Given the description of an element on the screen output the (x, y) to click on. 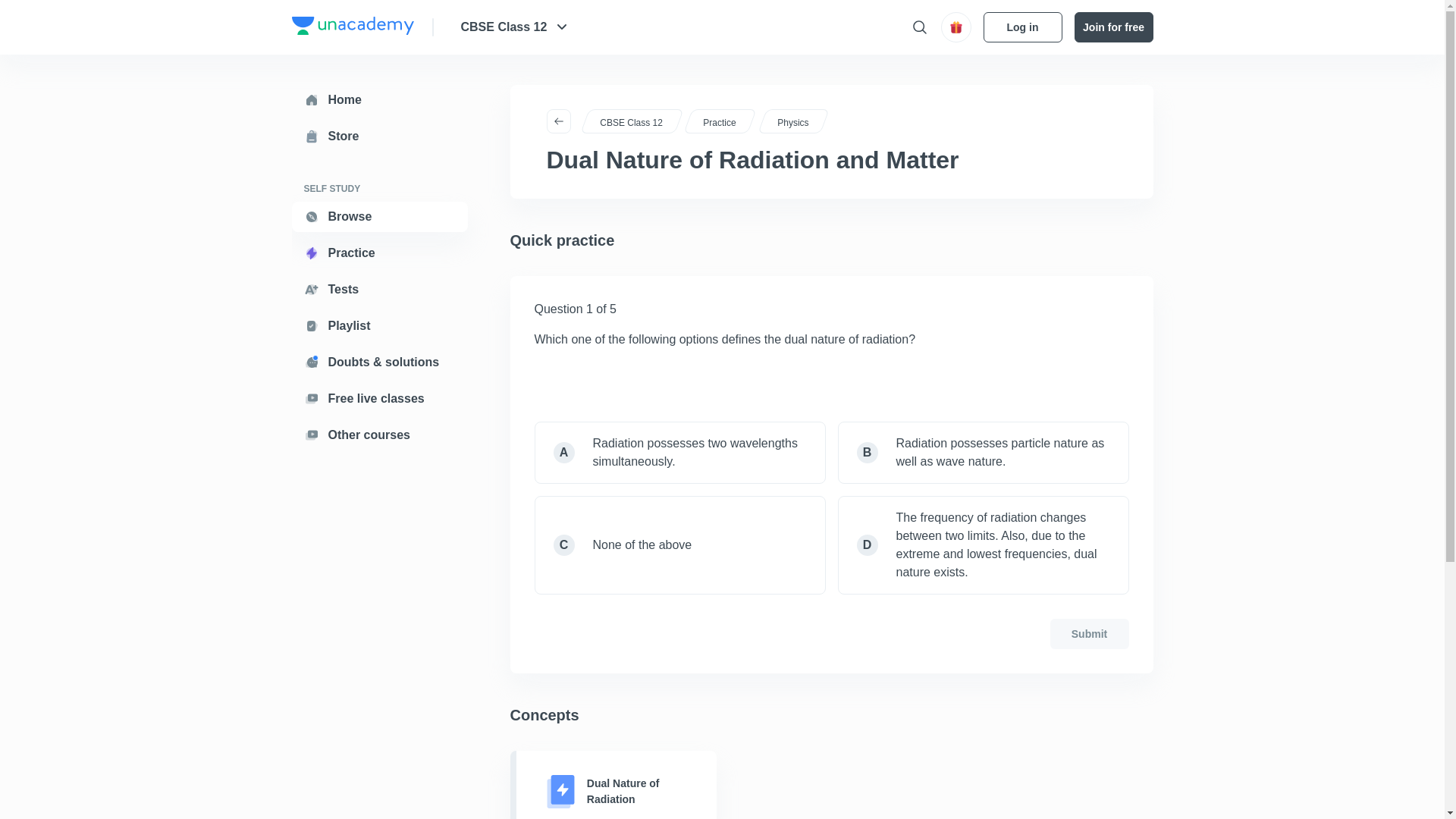
Tests (379, 289)
Log in (1021, 27)
Other courses (379, 435)
Store (379, 136)
Home (379, 100)
Dual Nature of Radiation (612, 785)
CBSE Class 12 (515, 27)
Physics (790, 122)
Browse (379, 216)
Playlist (379, 326)
Free live classes (379, 399)
Practice (379, 253)
Submit (1088, 634)
Join for free (1113, 27)
CBSE Class 12 (627, 122)
